Given the description of an element on the screen output the (x, y) to click on. 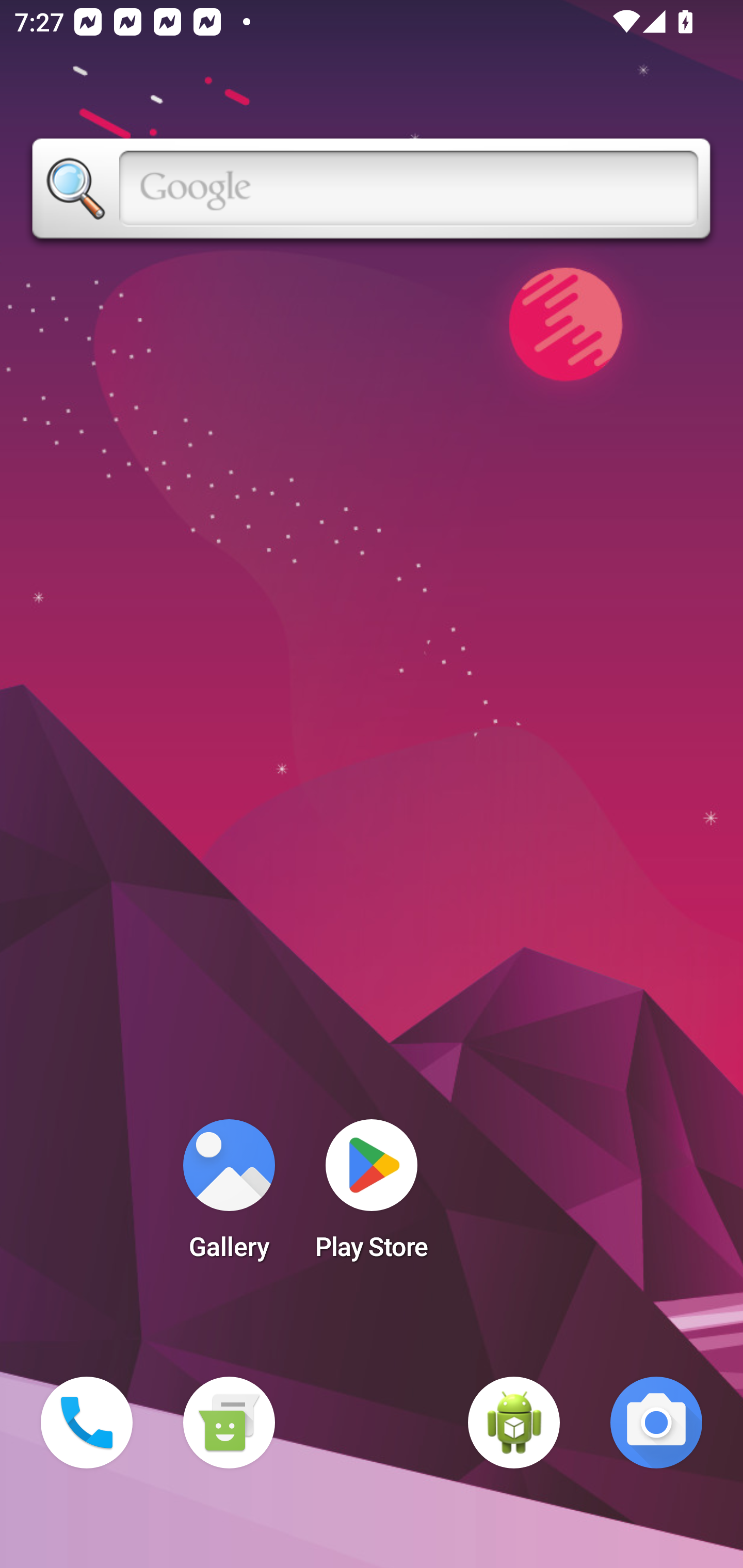
Gallery (228, 1195)
Play Store (371, 1195)
Phone (86, 1422)
Messaging (228, 1422)
WebView Browser Tester (513, 1422)
Camera (656, 1422)
